Given the description of an element on the screen output the (x, y) to click on. 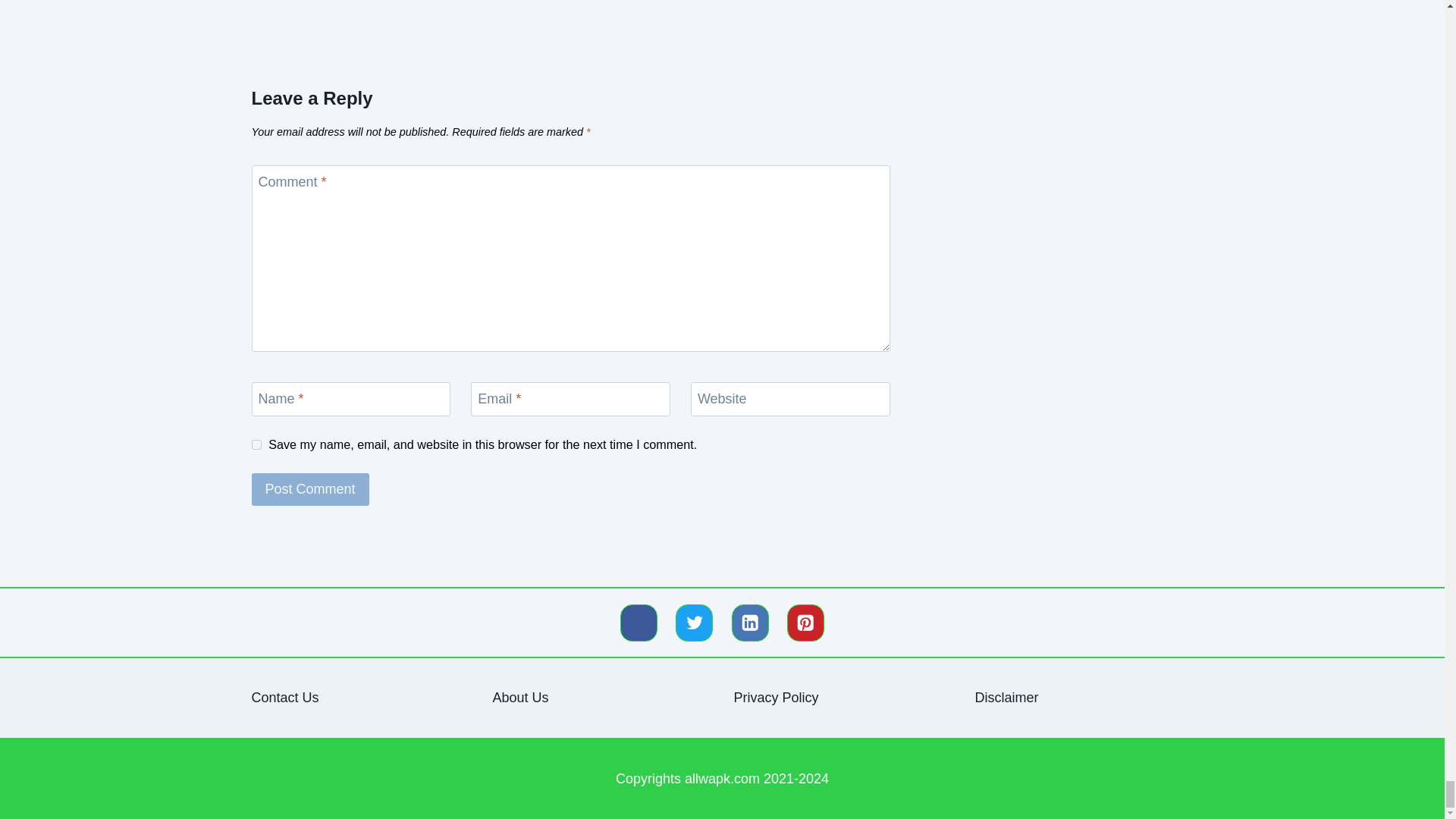
Post Comment (310, 489)
yes (256, 444)
